Given the description of an element on the screen output the (x, y) to click on. 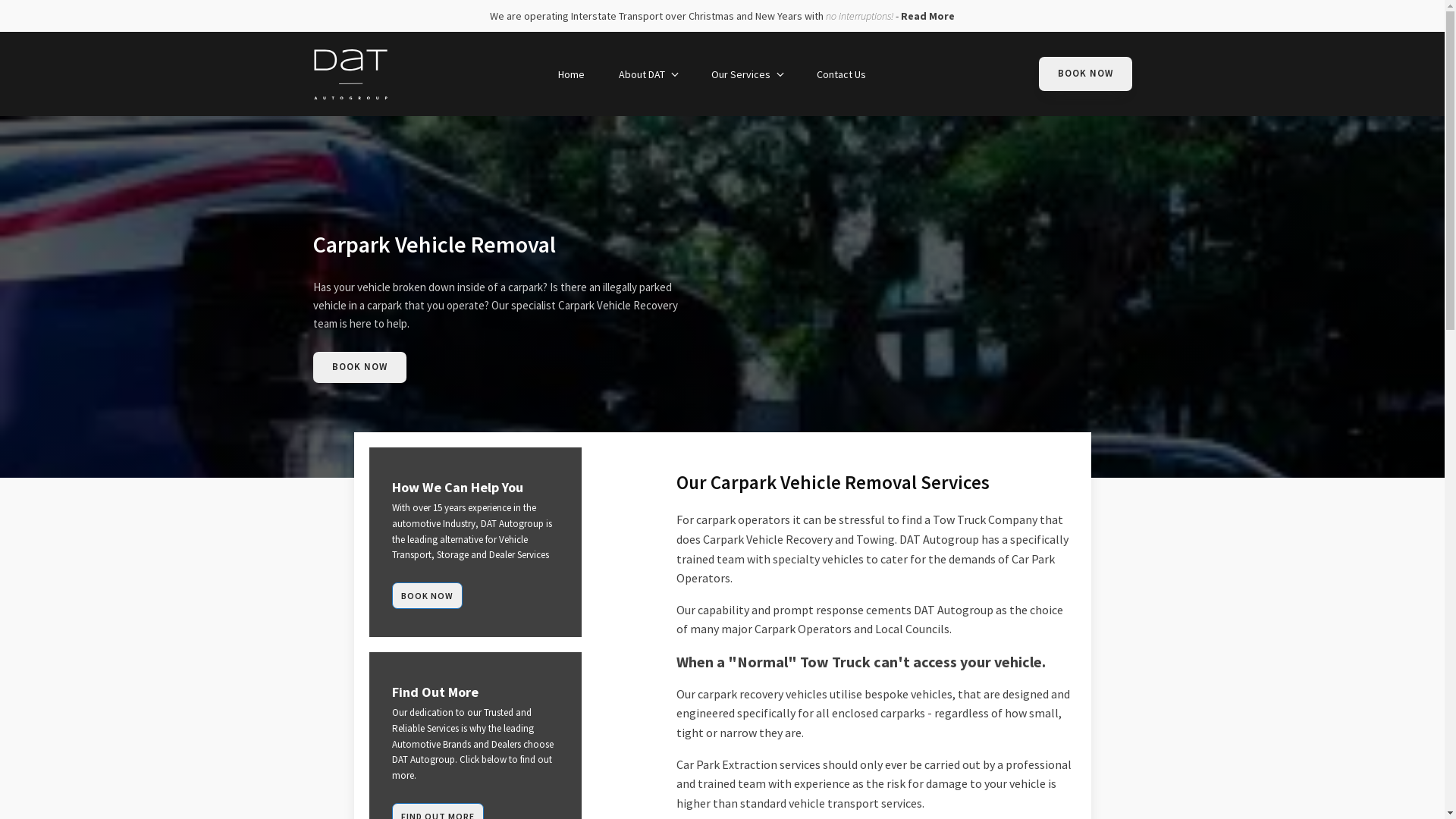
Contact Us Element type: text (842, 73)
BOOK NOW Element type: text (1085, 73)
BOOK NOW Element type: text (426, 595)
Home Element type: text (573, 73)
BOOK NOW Element type: text (358, 366)
